Given the description of an element on the screen output the (x, y) to click on. 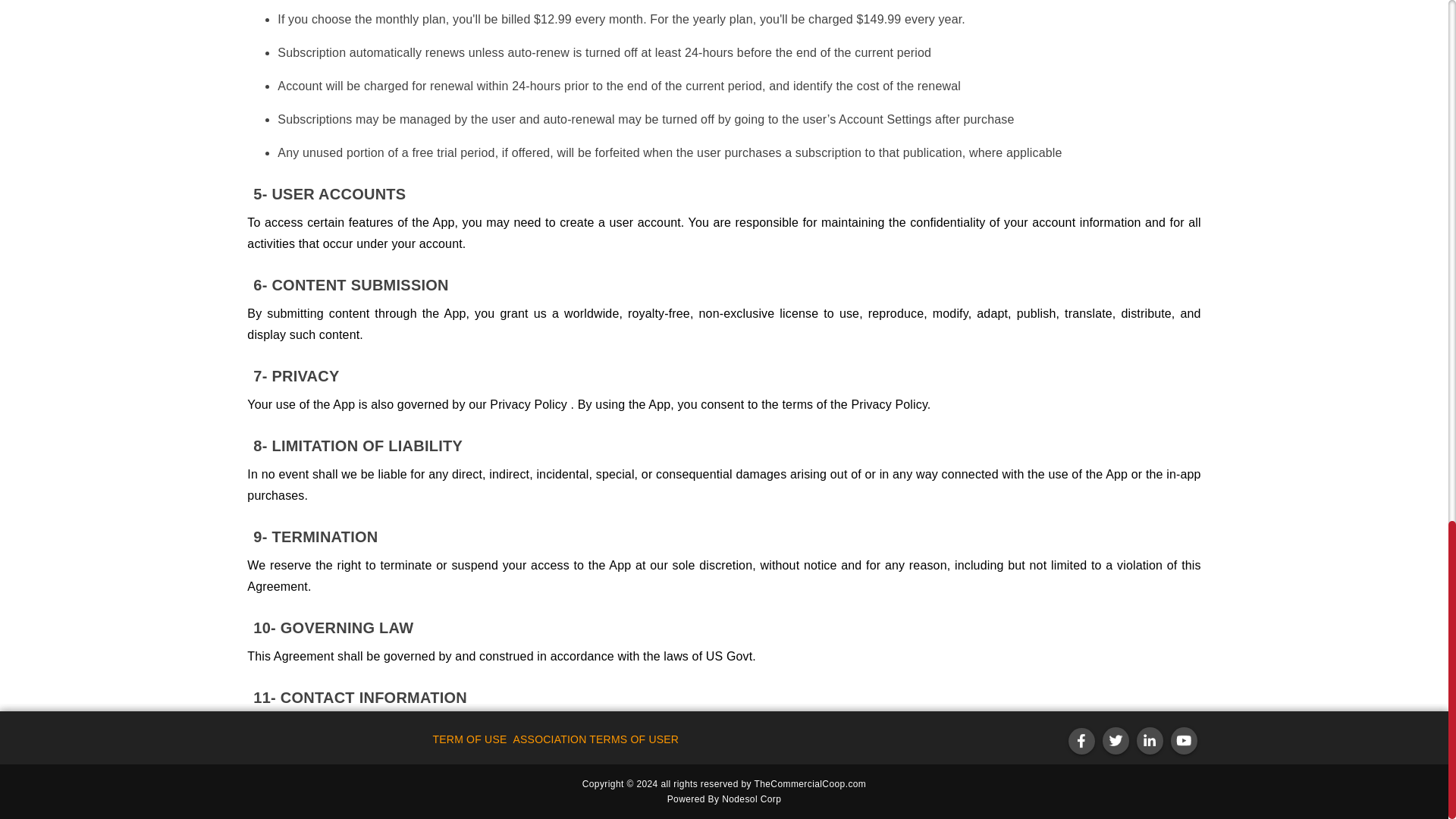
Nodesol Corp (751, 798)
TERM OF USE (469, 738)
TheCommercialCoop.com (810, 783)
ASSOCIATION TERMS OF USER (595, 738)
